Given the description of an element on the screen output the (x, y) to click on. 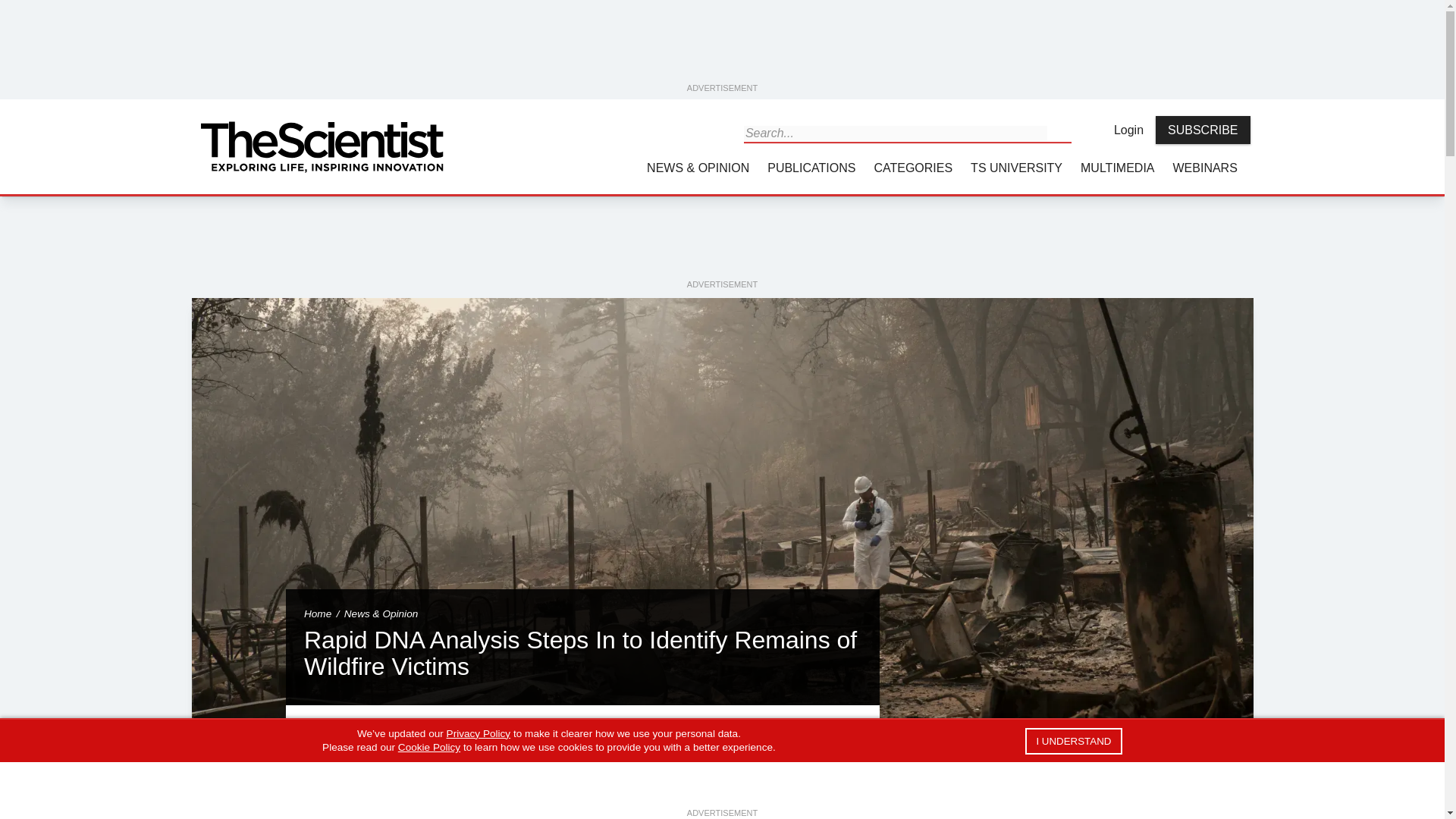
Katarina Zimmer (328, 790)
